Given the description of an element on the screen output the (x, y) to click on. 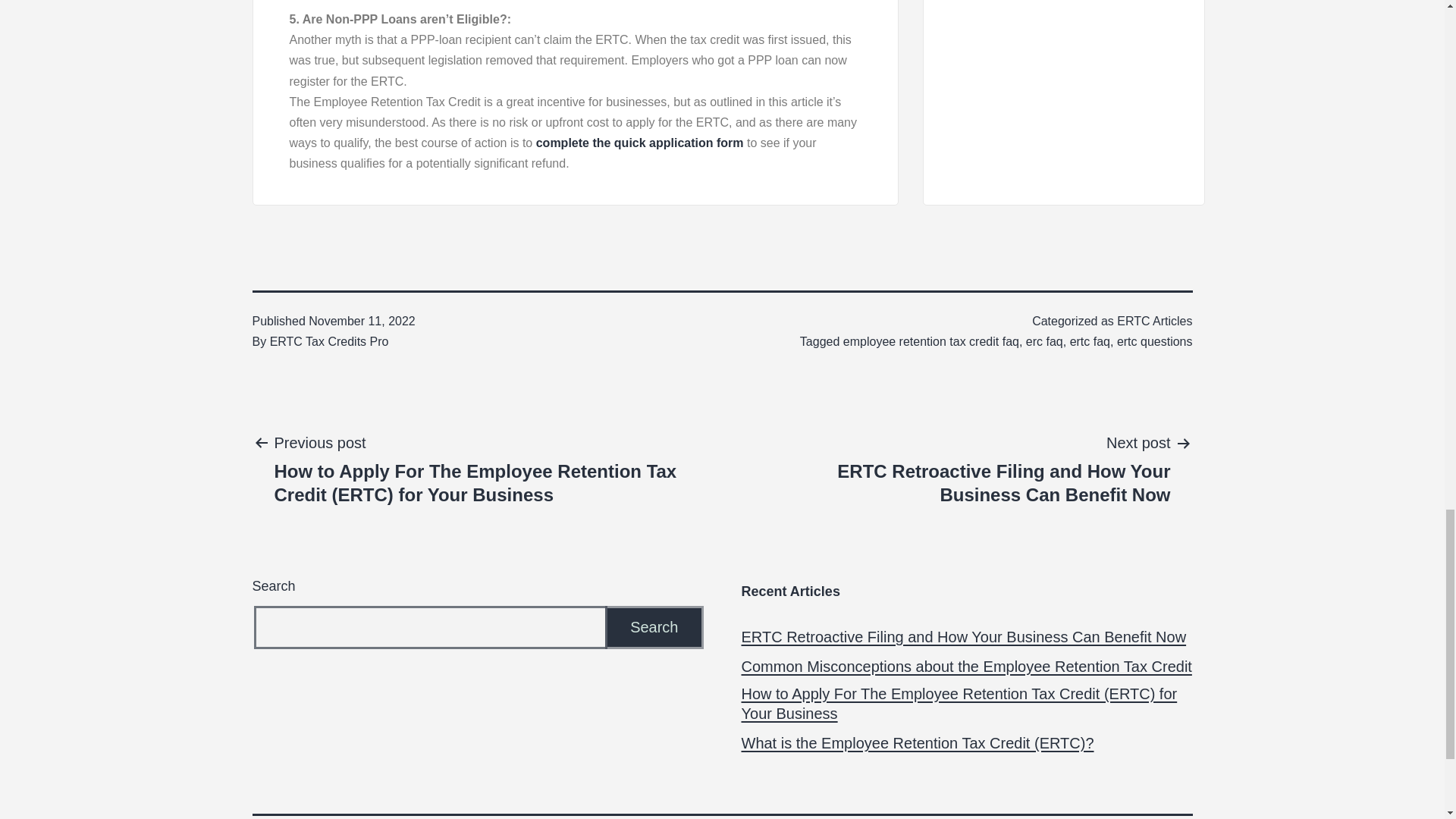
Search (654, 627)
erc faq (1044, 341)
ertc faq (1089, 341)
ERTC Articles (1154, 320)
complete the quick application form (639, 142)
ertc questions (1154, 341)
ERTC Tax Credits Pro (328, 341)
